Given the description of an element on the screen output the (x, y) to click on. 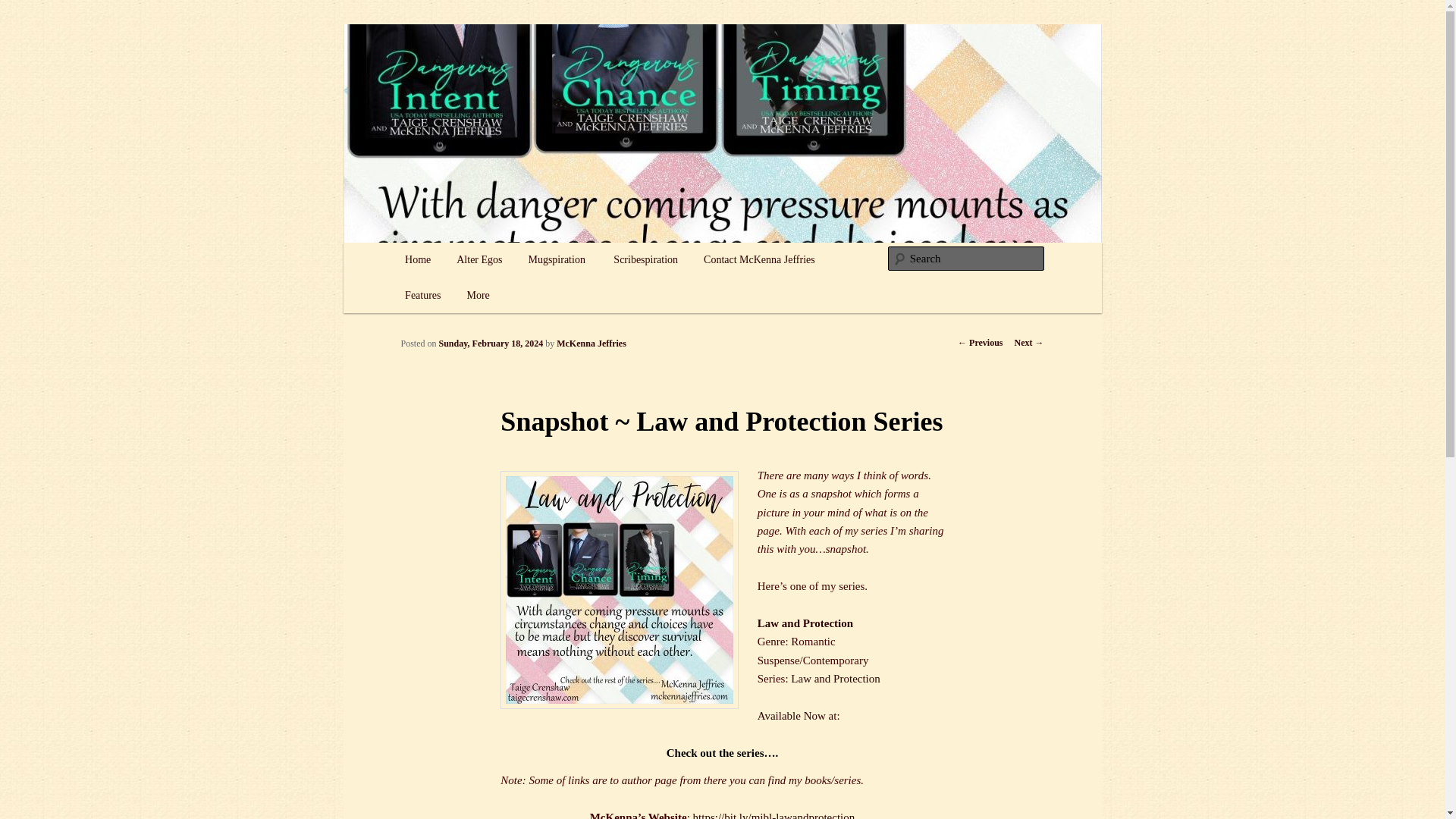
McKenna Jeffries (486, 78)
Mugspiration  (557, 260)
Home (417, 260)
Features (421, 295)
Alter Egos (479, 260)
Law and Protection (805, 623)
McKenna Jeffries (591, 343)
Sunday, February 18, 2024 (491, 343)
More (477, 295)
Scribespiration (644, 260)
